Given the description of an element on the screen output the (x, y) to click on. 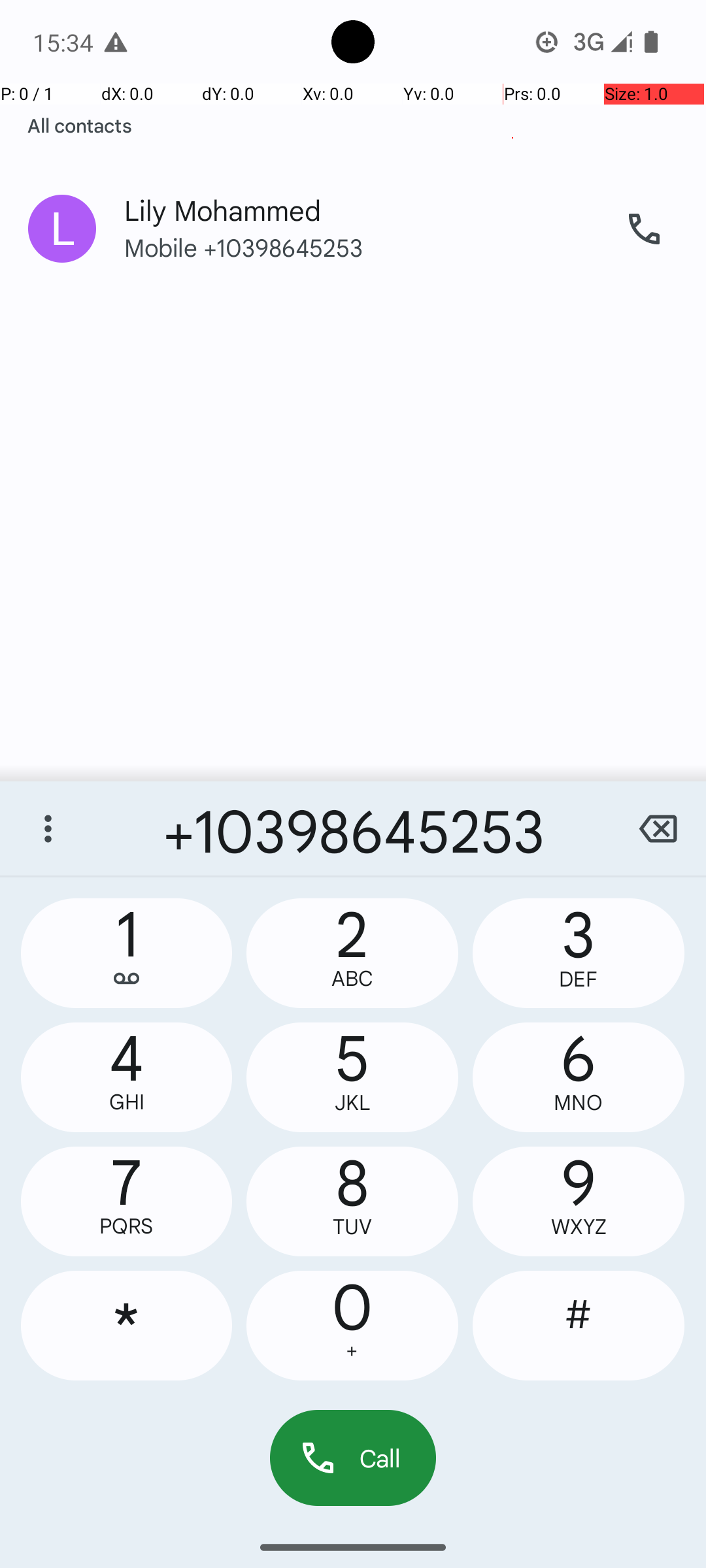
Call Element type: android.widget.Button (352, 1457)
+10398645253 Element type: android.widget.EditText (352, 828)
backspace Element type: android.widget.ImageButton (657, 828)
1, Element type: android.widget.FrameLayout (126, 953)
2,ABC Element type: android.widget.FrameLayout (352, 953)
3,DEF Element type: android.widget.FrameLayout (578, 953)
4,GHI Element type: android.widget.FrameLayout (126, 1077)
5,JKL Element type: android.widget.FrameLayout (352, 1077)
6,MNO Element type: android.widget.FrameLayout (578, 1077)
7,PQRS Element type: android.widget.FrameLayout (126, 1201)
8,TUV Element type: android.widget.FrameLayout (352, 1201)
9,WXYZ Element type: android.widget.FrameLayout (578, 1201)
* Element type: android.widget.FrameLayout (126, 1325)
# Element type: android.widget.FrameLayout (578, 1325)
ABC Element type: android.widget.TextView (351, 978)
DEF Element type: android.widget.TextView (578, 978)
GHI Element type: android.widget.TextView (126, 1101)
JKL Element type: android.widget.TextView (351, 1102)
MNO Element type: android.widget.TextView (578, 1102)
PQRS Element type: android.widget.TextView (126, 1225)
TUV Element type: android.widget.TextView (351, 1226)
WXYZ Element type: android.widget.TextView (578, 1226)
+ Element type: android.widget.TextView (351, 1351)
All contacts Element type: android.widget.TextView (79, 124)
Quick contact for Lily Mohammed Element type: android.widget.QuickContactBadge (62, 228)
Lily Mohammed Element type: android.widget.TextView (360, 197)
Mobile ‪+10398645253‬ Element type: android.widget.TextView (360, 260)
